Given the description of an element on the screen output the (x, y) to click on. 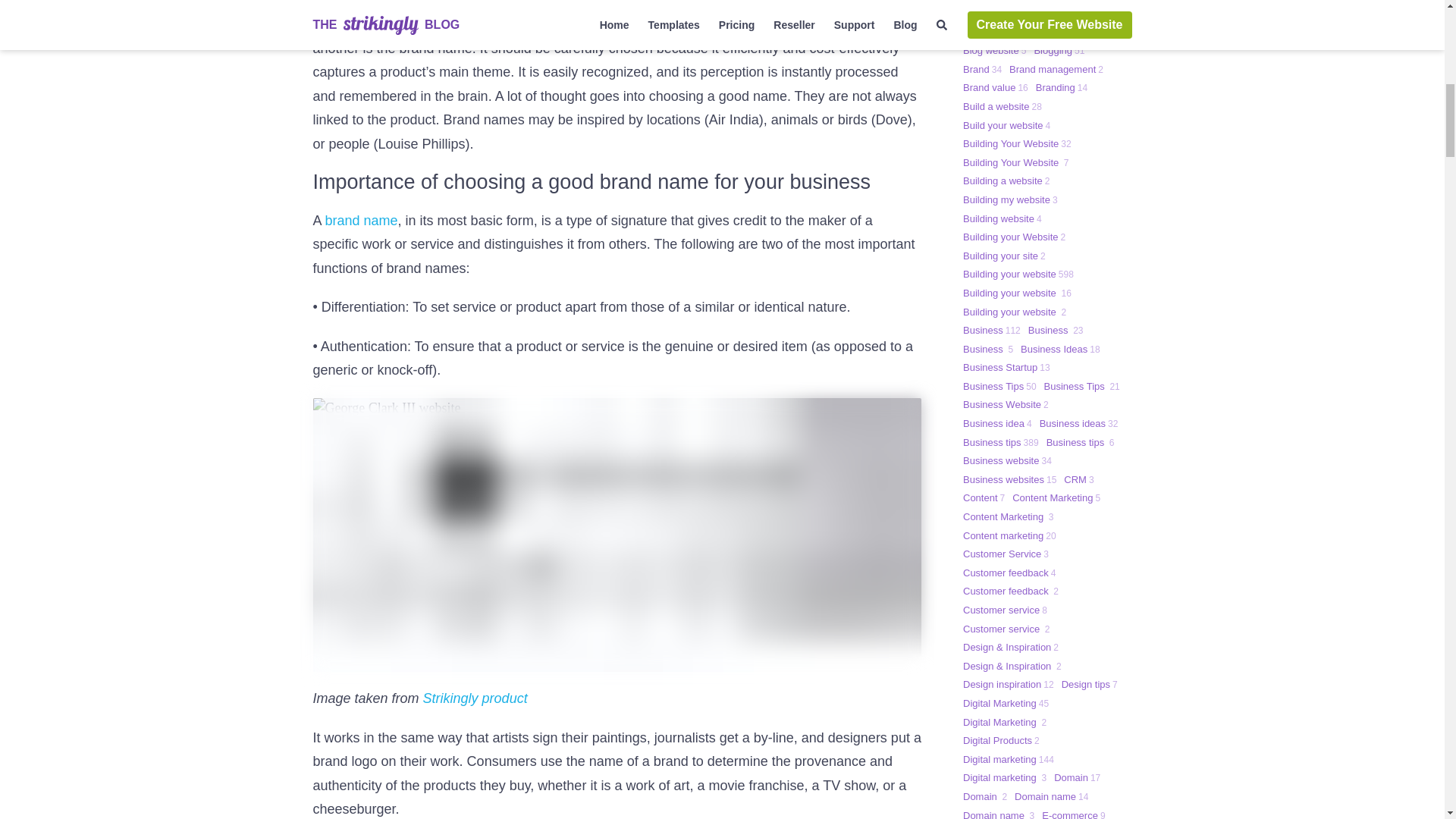
brand name (360, 220)
Strikingly product (475, 698)
